Given the description of an element on the screen output the (x, y) to click on. 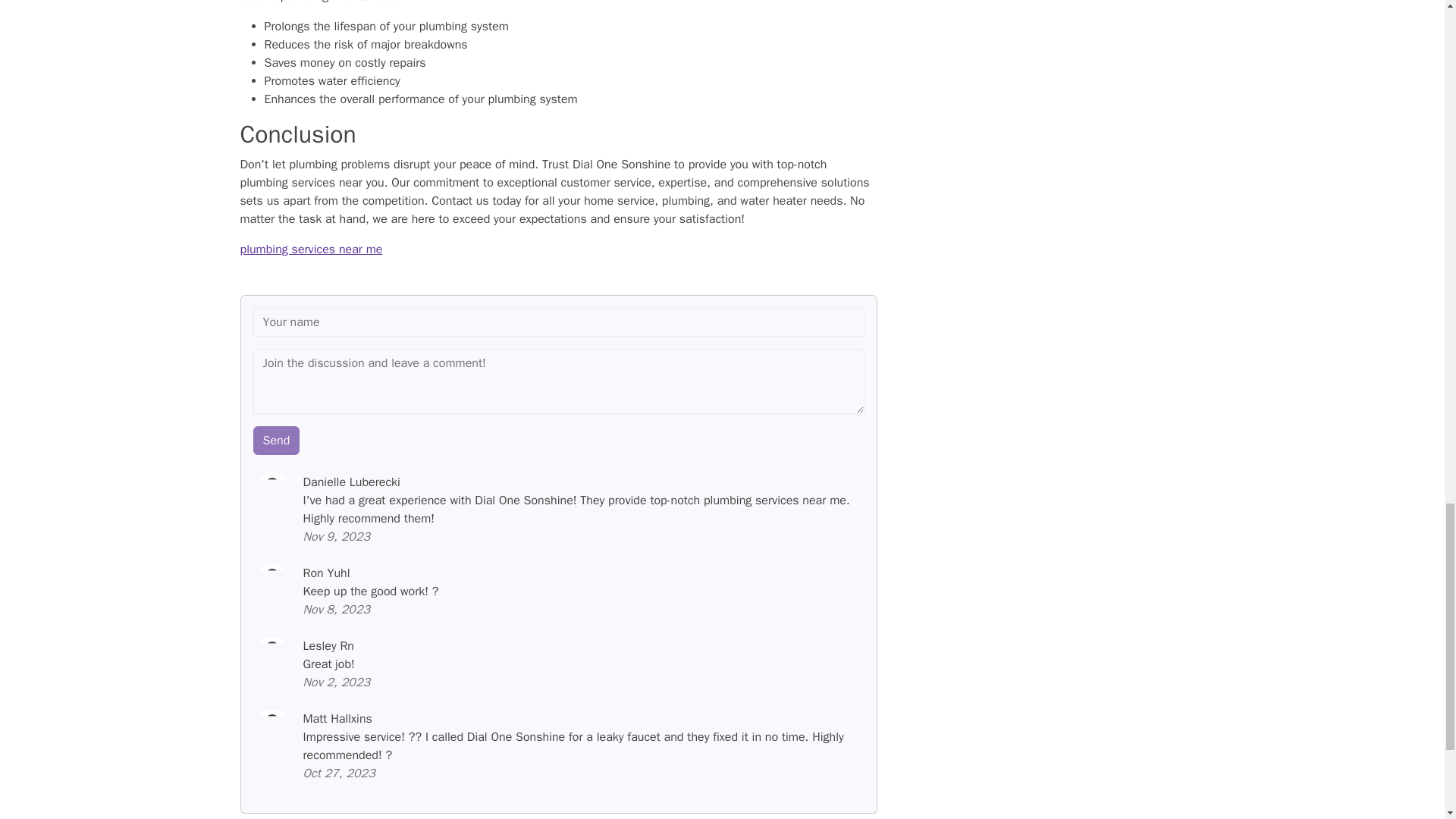
plumbing services near me (310, 249)
Send (276, 440)
Send (276, 440)
